Given the description of an element on the screen output the (x, y) to click on. 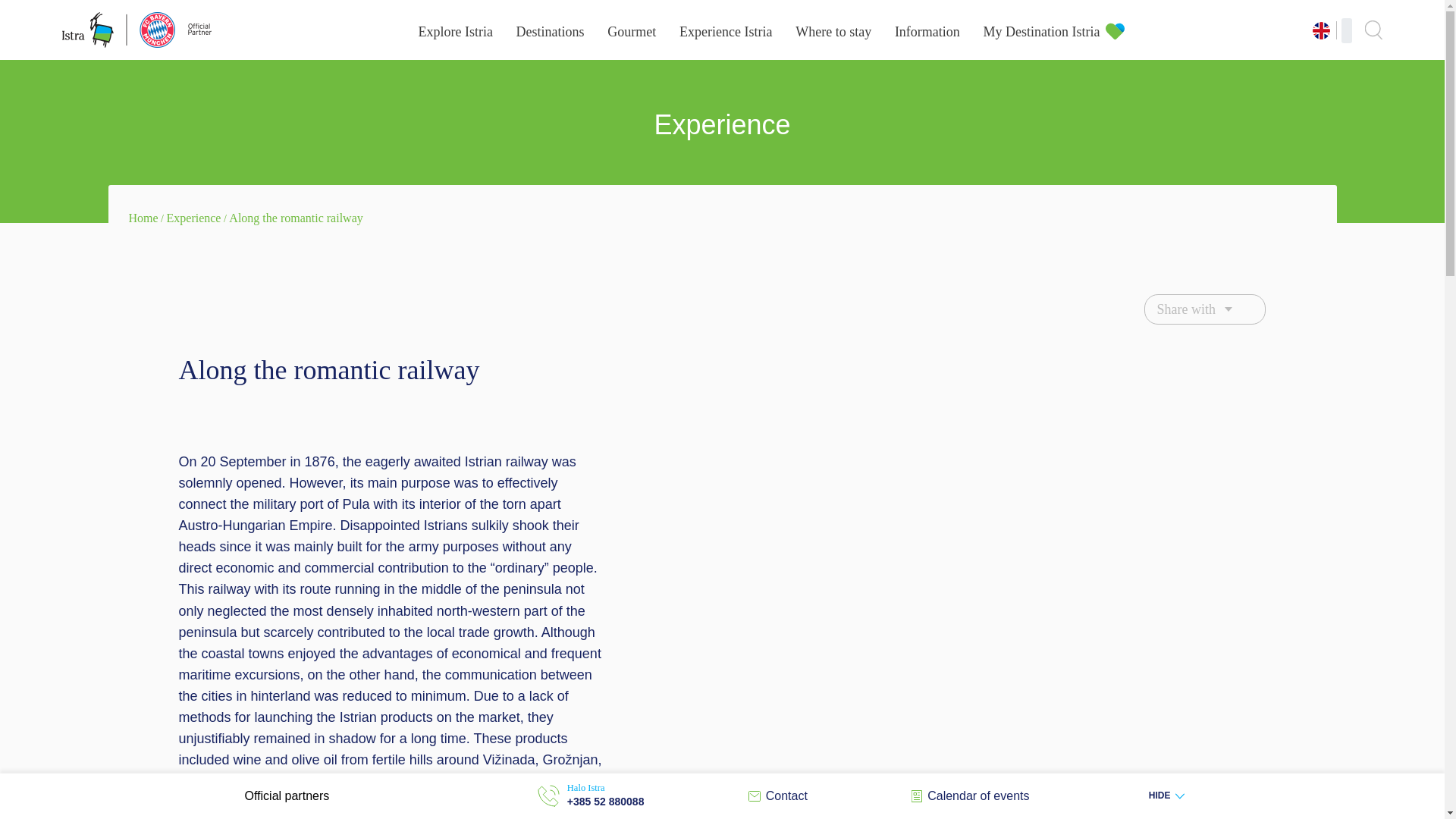
Gourmet (631, 31)
Experience (194, 217)
Experience Istria (725, 31)
Information (927, 31)
Home (143, 217)
My Destination Istria (1042, 31)
Along the romantic railway (295, 217)
Where to stay (832, 31)
Destinations (550, 31)
Explore Istria (454, 31)
